Given the description of an element on the screen output the (x, y) to click on. 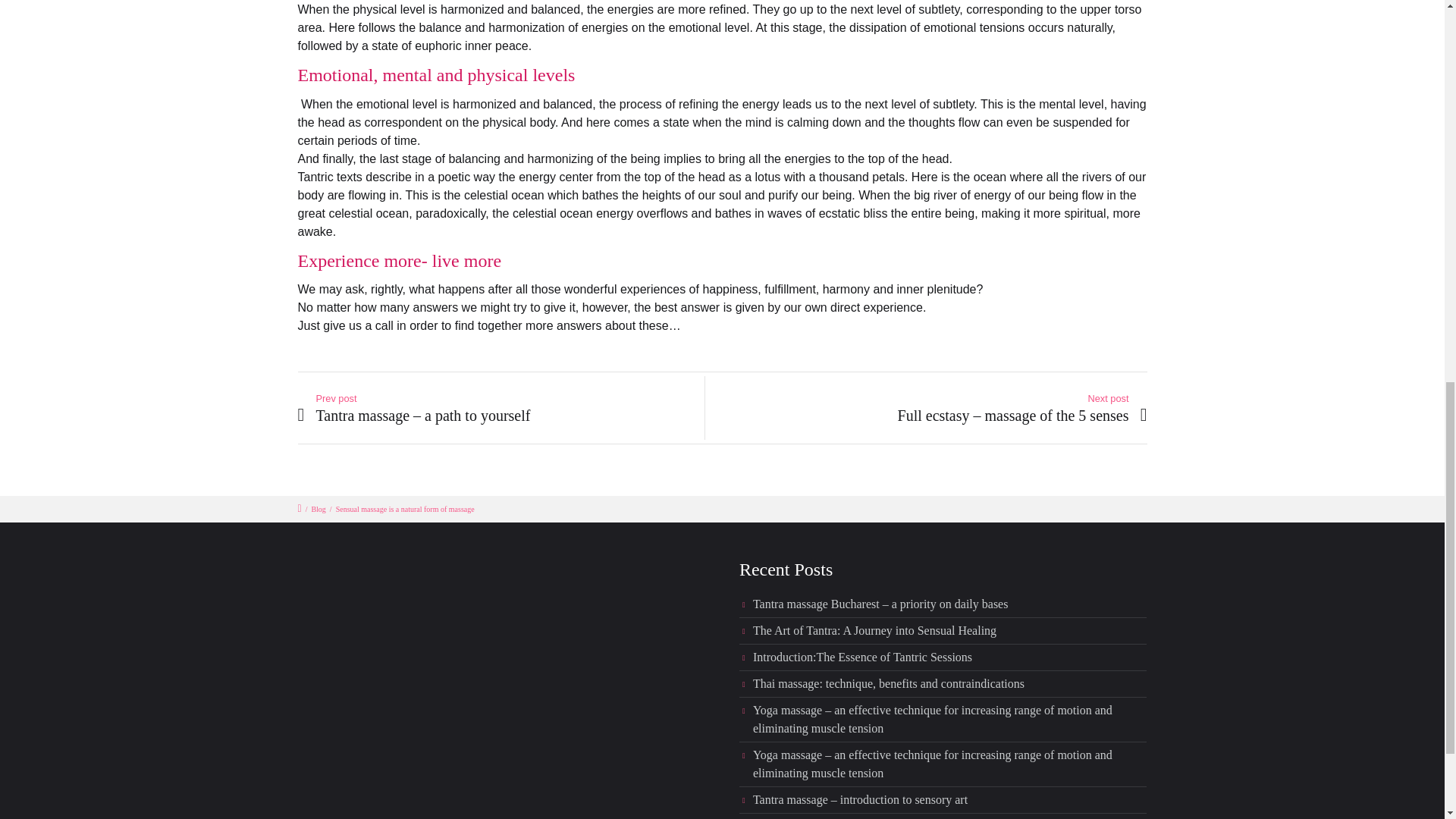
The Art of Tantra: A Journey into Sensual Healing (873, 630)
Blog (317, 509)
Thai massage: technique, benefits and contraindications (888, 683)
Introduction:The Essence of Tantric Sessions (862, 656)
